Given the description of an element on the screen output the (x, y) to click on. 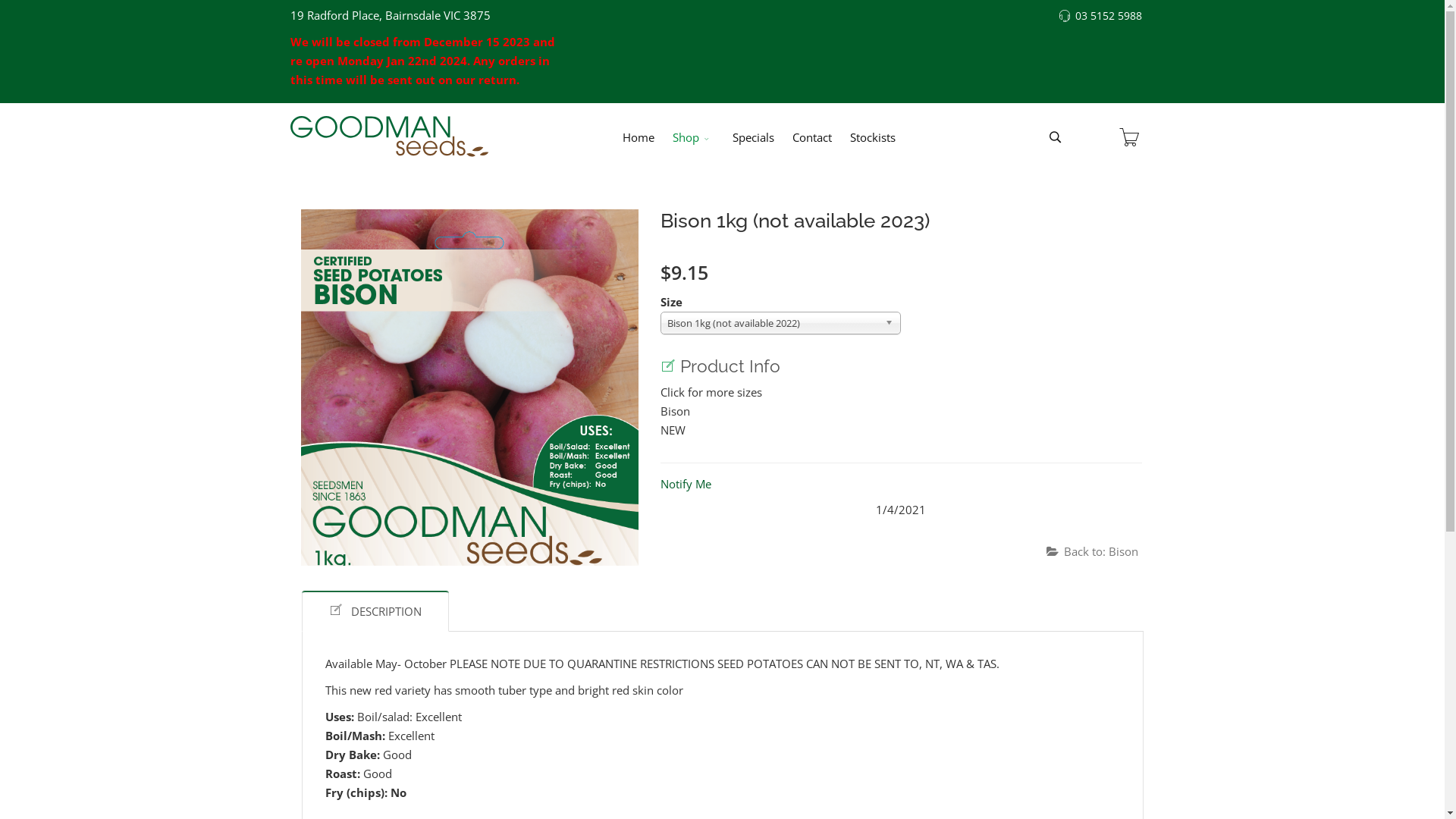
Back to: Bison Element type: text (1091, 551)
Bison 1kg (not available 2022) Element type: text (779, 322)
03 5152 5988 Element type: text (1108, 15)
Shop Element type: text (693, 137)
Notify Me Element type: text (684, 483)
Stockists Element type: text (872, 137)
Contact Element type: text (811, 137)
Home Element type: text (638, 137)
DESCRIPTION Element type: text (374, 611)
Specials Element type: text (753, 137)
0 Element type: text (1128, 137)
